Given the description of an element on the screen output the (x, y) to click on. 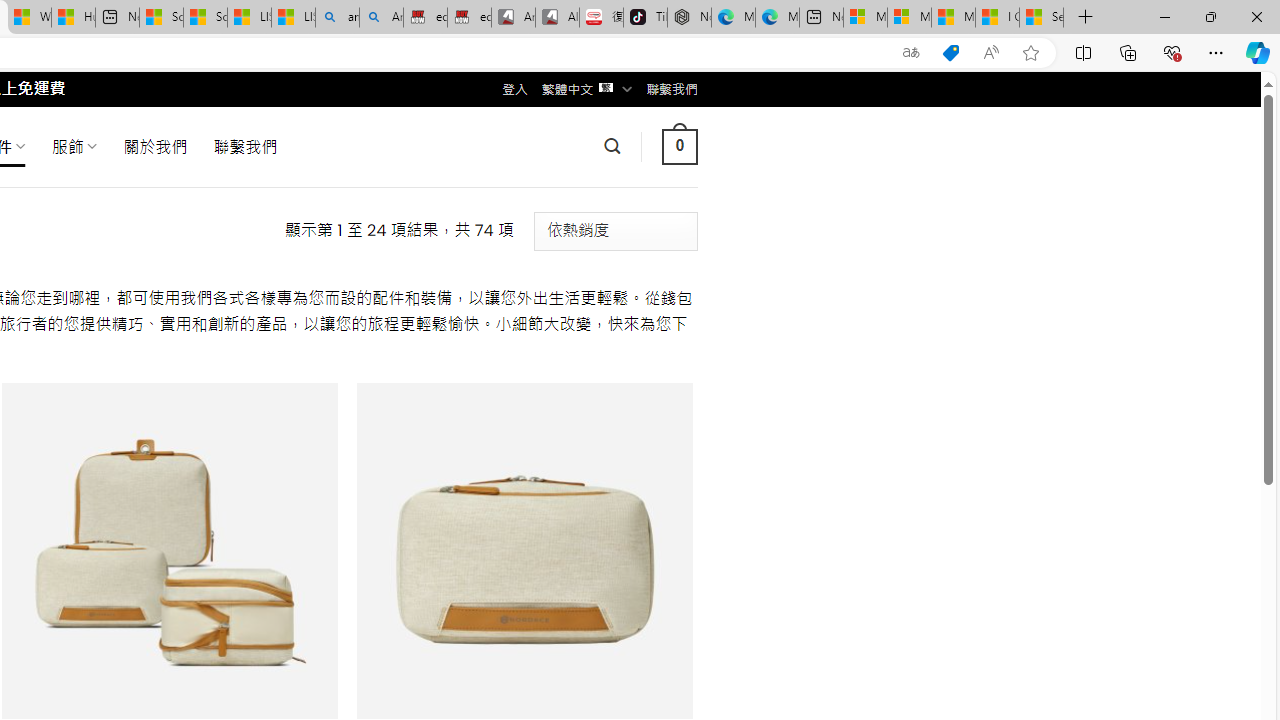
Huge shark washes ashore at New York City beach | Watch (73, 17)
amazon - Search (337, 17)
 0  (679, 146)
